Given the description of an element on the screen output the (x, y) to click on. 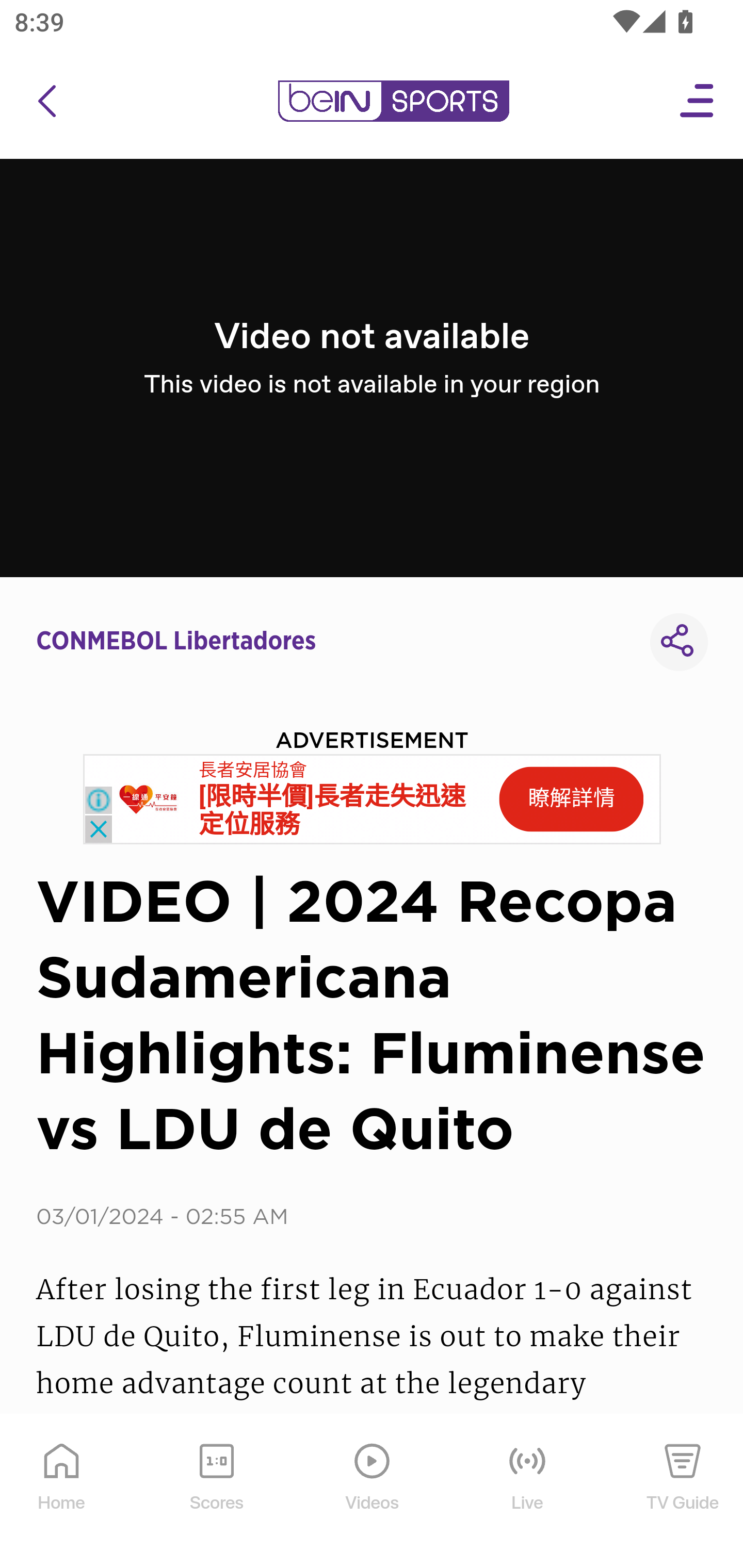
en-us?platform=mobile_android bein logo (392, 101)
icon back (46, 101)
Open Menu Icon (697, 101)
長者安居協會 (253, 769)
瞭解詳情 (571, 799)
[限時半價]長者走失迅速 定位服務 [限時半價]長者走失迅速 定位服務 (331, 811)
Home Home Icon Home (61, 1491)
Scores Scores Icon Scores (216, 1491)
Videos Videos Icon Videos (372, 1491)
TV Guide TV Guide Icon TV Guide (682, 1491)
